Given the description of an element on the screen output the (x, y) to click on. 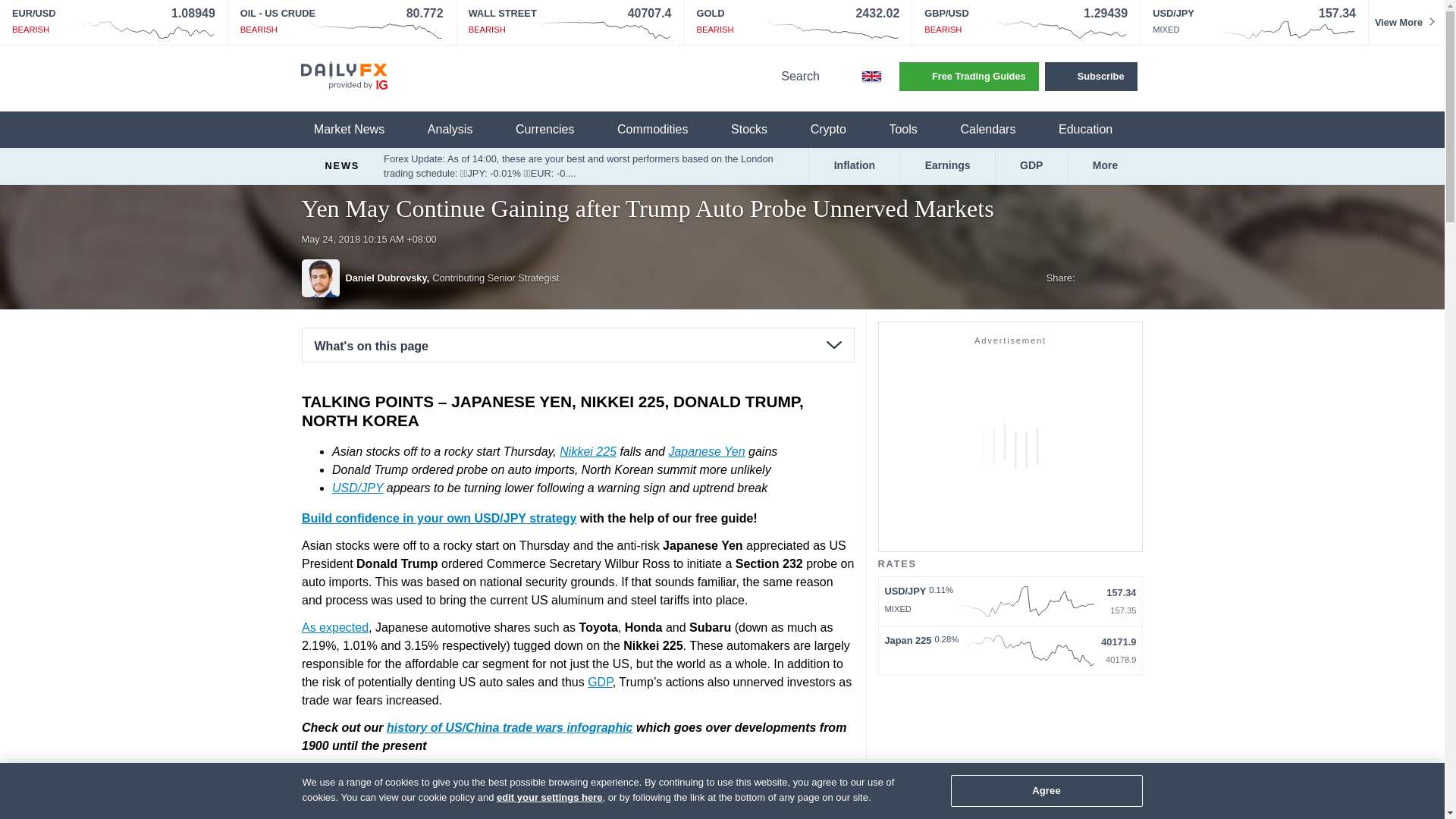
Analysis (458, 129)
Nikkei 225 (587, 450)
Free Trading Guides (969, 76)
Market News (357, 129)
Subscribe (1091, 76)
Japanese Yen (706, 450)
Currencies (554, 129)
GDP (600, 680)
